Given the description of an element on the screen output the (x, y) to click on. 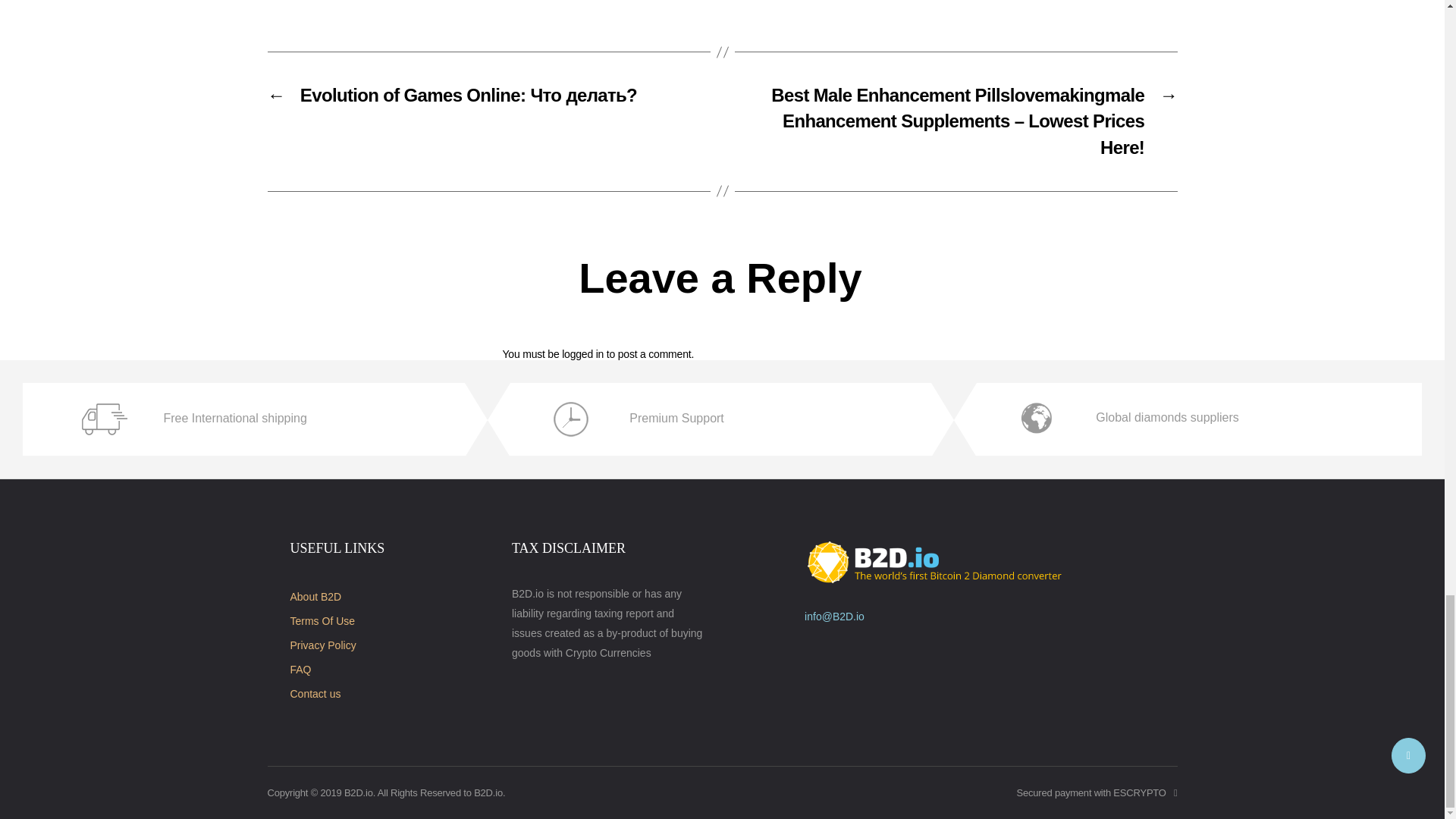
FAQ (300, 669)
Contact us (314, 693)
Privacy Policy (322, 645)
Terms Of Use (322, 621)
logged in (583, 354)
About B2D (314, 596)
